Given the description of an element on the screen output the (x, y) to click on. 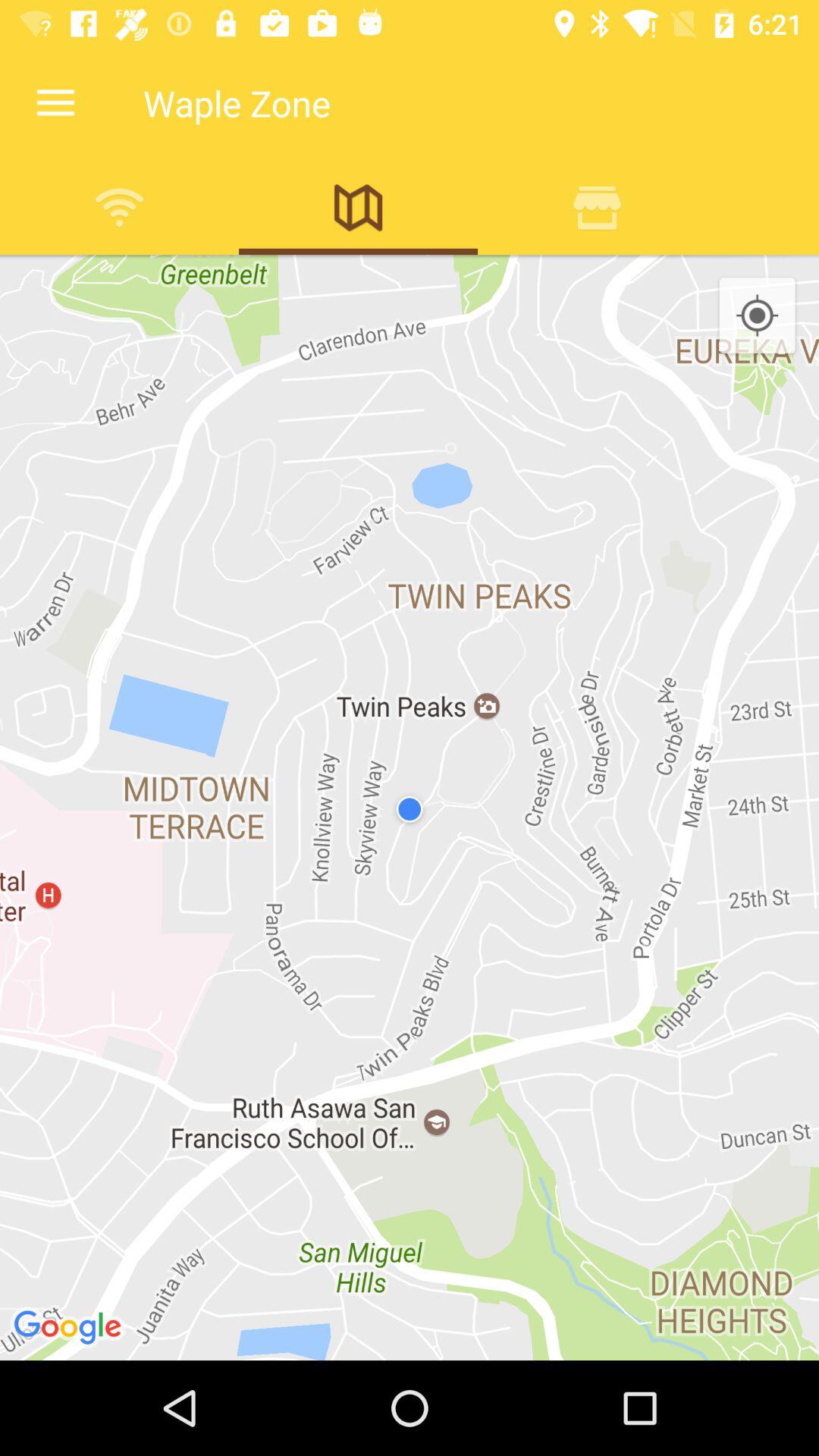
store locations (596, 206)
